Given the description of an element on the screen output the (x, y) to click on. 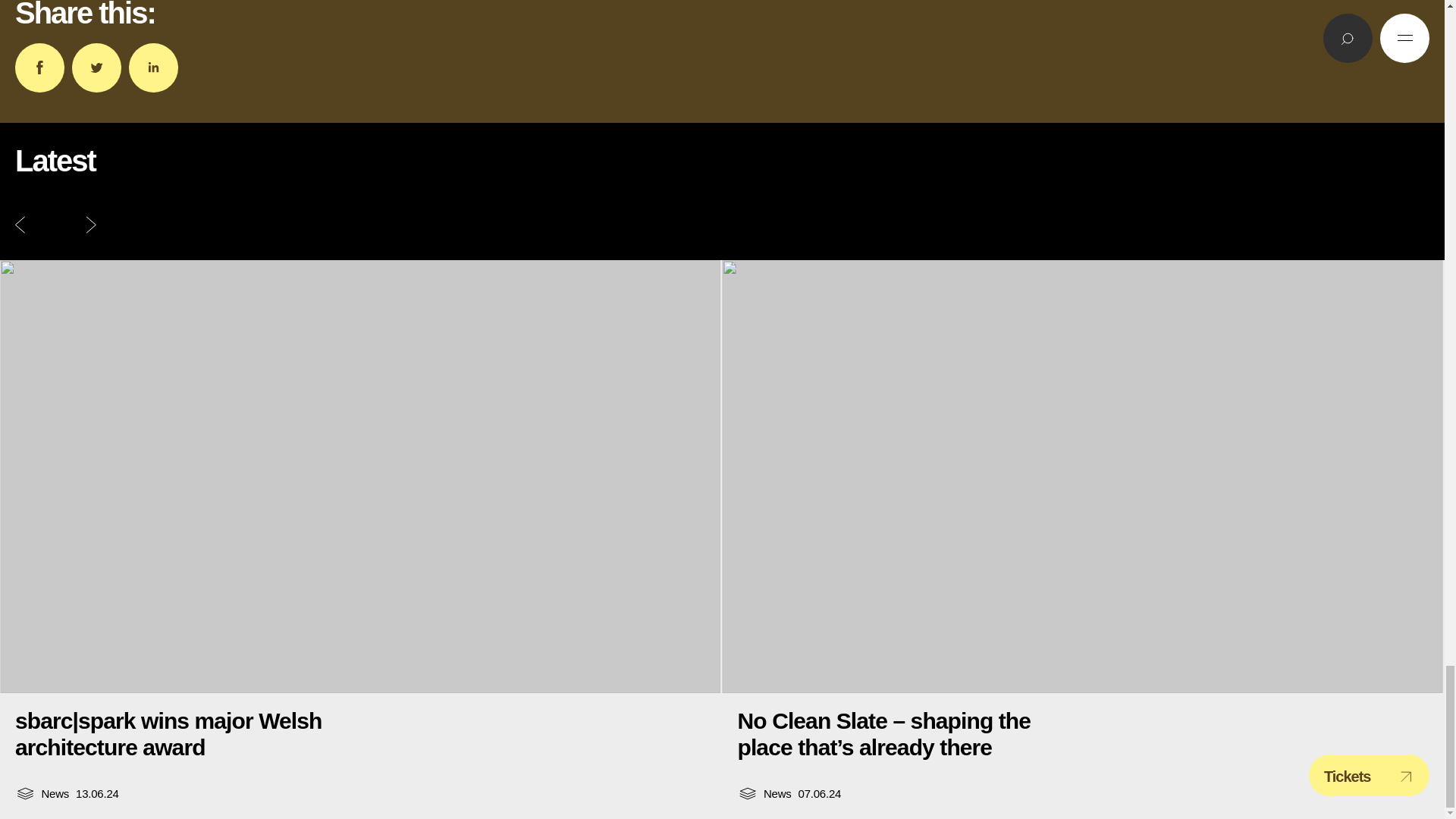
LinkedIn (153, 67)
Twitter (95, 67)
Facebook (39, 67)
